Given the description of an element on the screen output the (x, y) to click on. 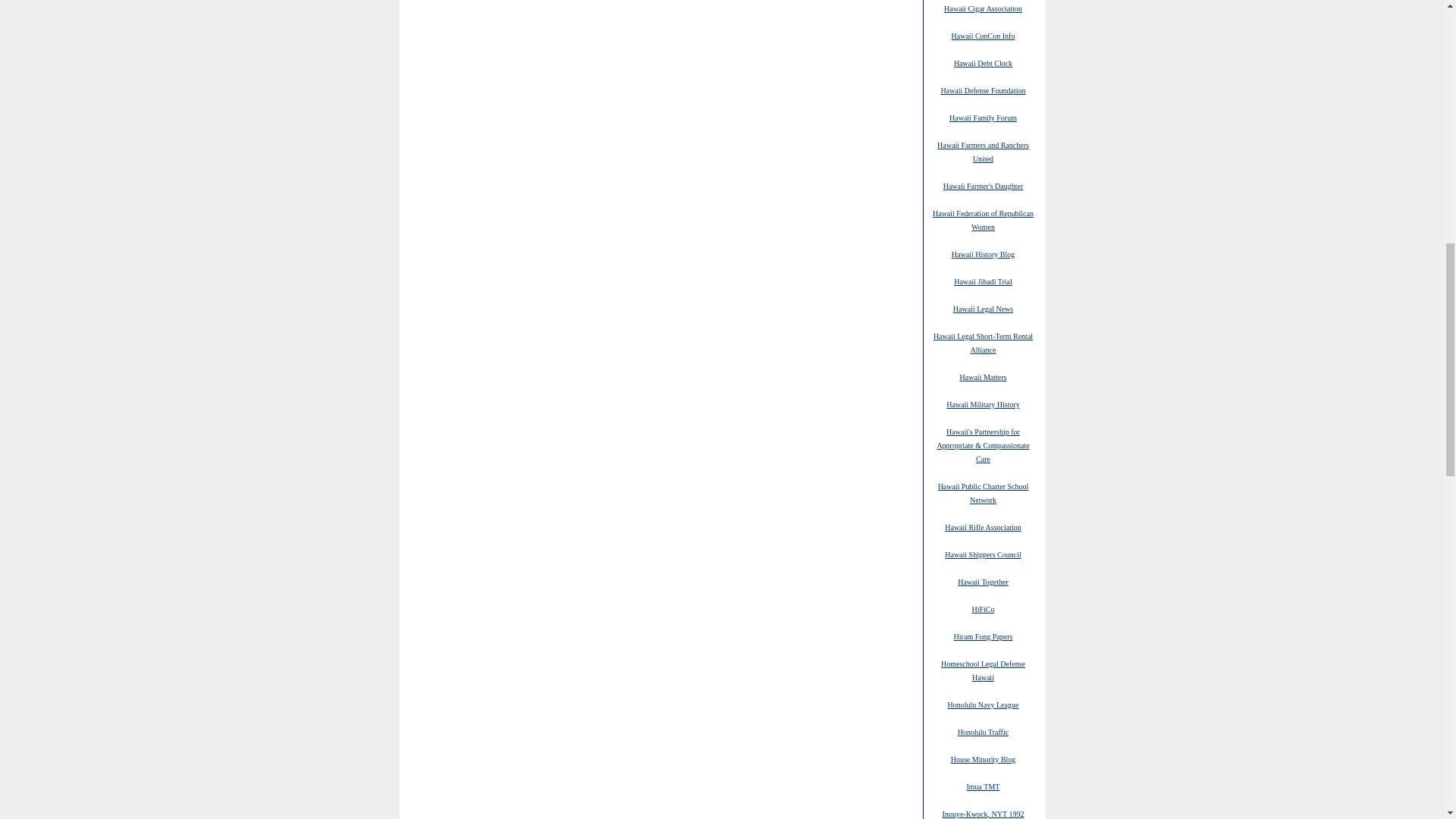
Hawaii Debt Clock (982, 62)
Hawaii Cigar Association (982, 8)
Hawaii ConCon Info (983, 35)
